Given the description of an element on the screen output the (x, y) to click on. 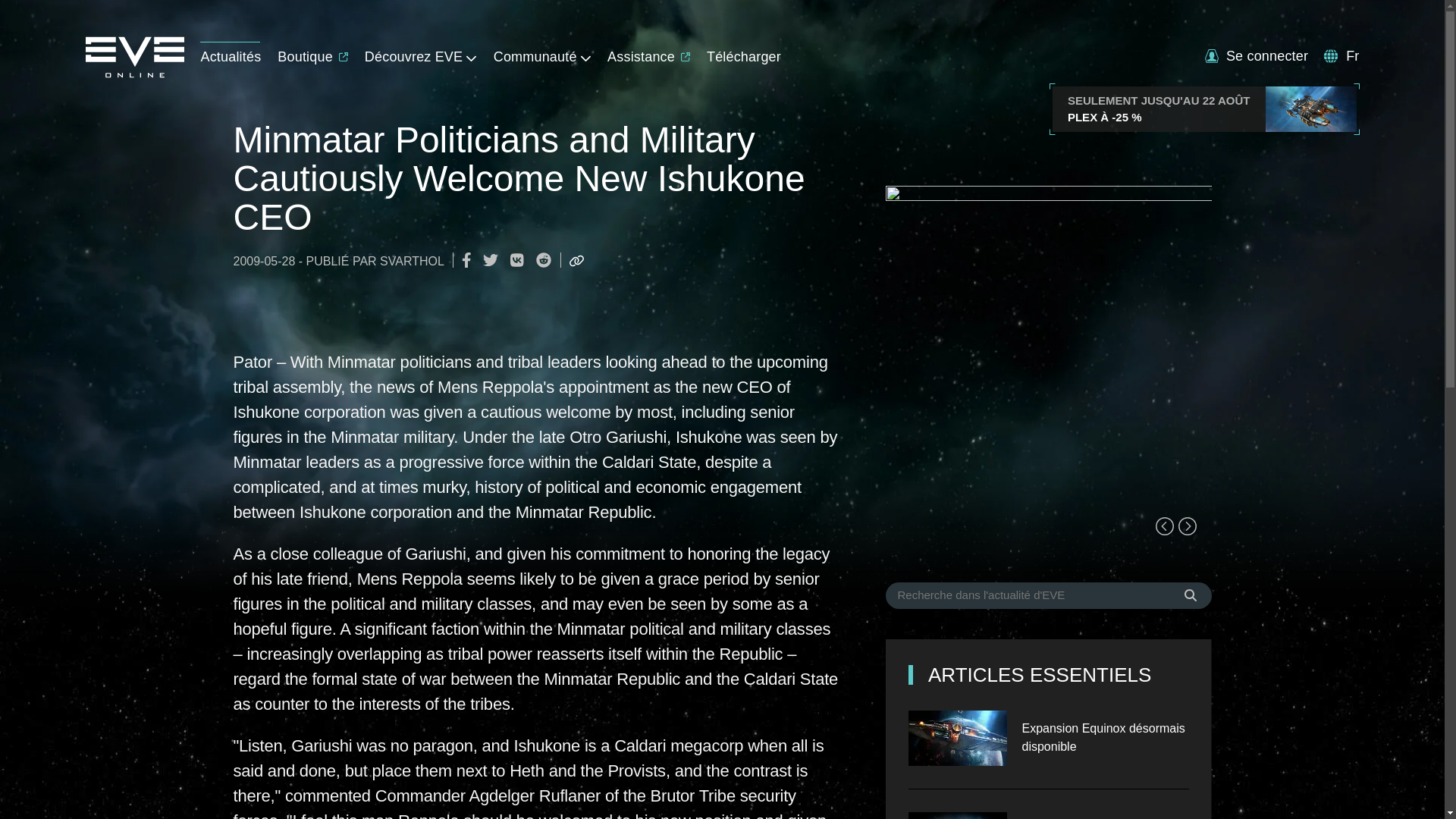
Home (133, 72)
Se connecter (1256, 55)
Boutique (312, 53)
Assistance (648, 53)
